Given the description of an element on the screen output the (x, y) to click on. 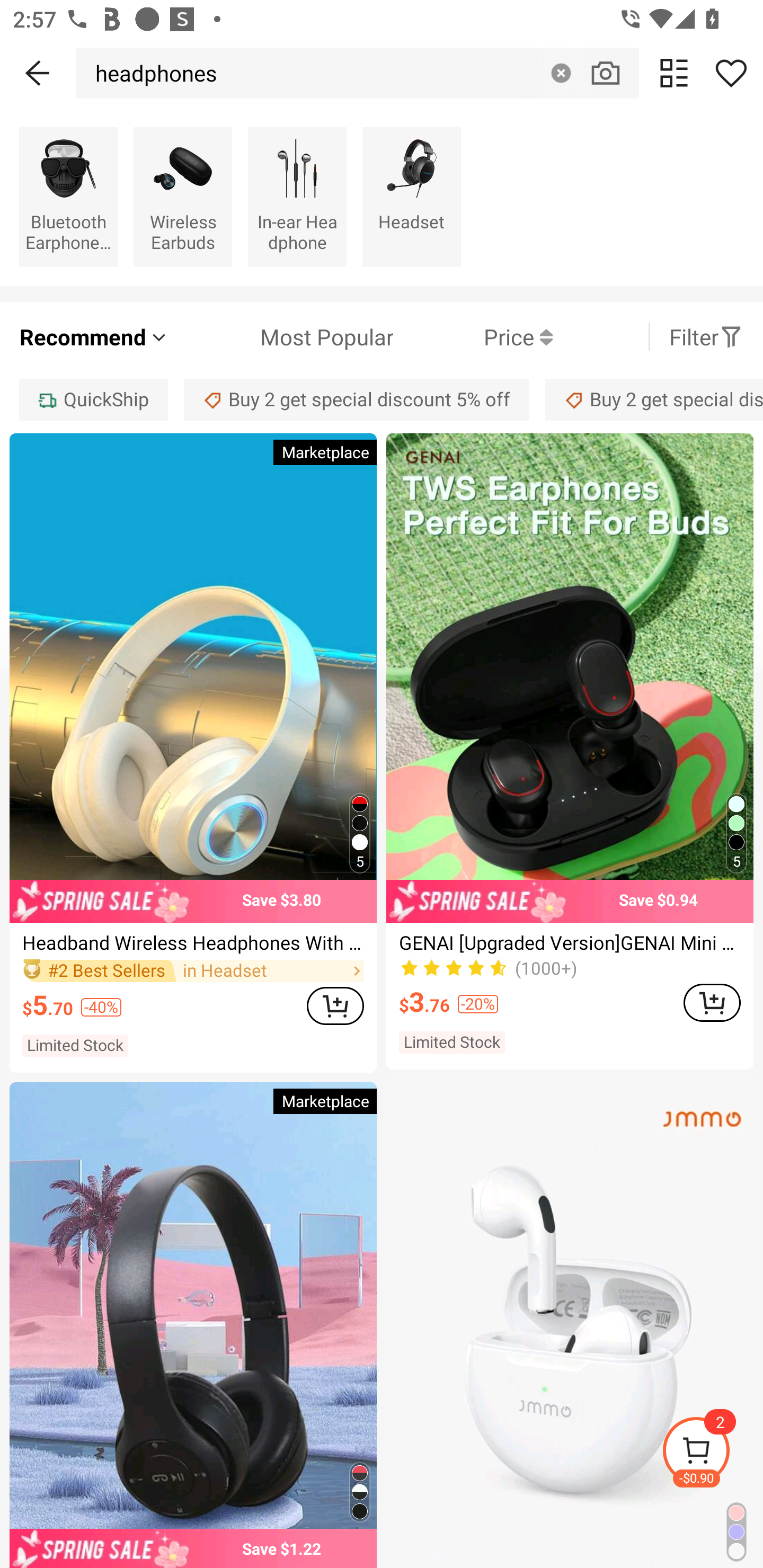
headphones Clear (357, 72)
Clear (560, 72)
change view (673, 72)
Share (730, 72)
Bluetooth Earphone Cases (68, 196)
Wireless Earbuds (182, 196)
In-ear Headphone (296, 196)
Headset (411, 196)
Recommend (94, 336)
Most Popular (280, 336)
Price (472, 336)
Filter (705, 336)
QuickShip (93, 399)
Buy 2 get special discount 5% off (356, 399)
Buy 2 get special discount 5% off (654, 399)
#2 Best Sellers in Headset (192, 970)
ADD TO CART (711, 1002)
ADD TO CART (334, 1005)
-$0.90 (712, 1452)
